Given the description of an element on the screen output the (x, y) to click on. 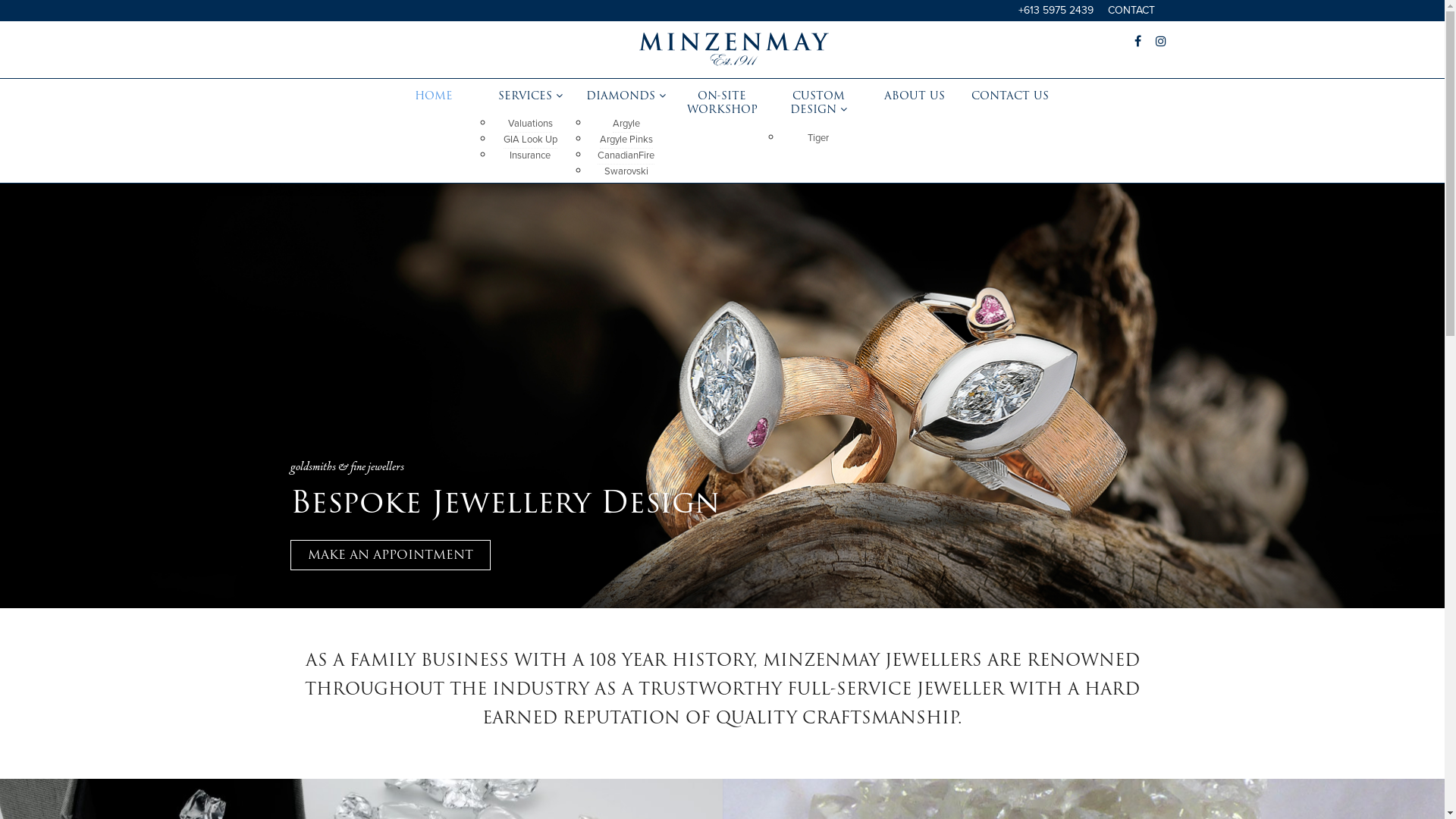
Argyle Pinks Element type: text (625, 139)
CONTACT Element type: text (1130, 9)
ABOUT US Element type: text (914, 95)
Valuations Element type: text (530, 123)
CONTACT US Element type: text (1010, 95)
Argyle Element type: text (626, 123)
MAKE AN APPOINTMENT Element type: text (389, 554)
HOME Element type: text (433, 95)
Tiger Element type: text (817, 137)
image/svg+xml Element type: text (733, 61)
GIA Look Up Element type: text (530, 139)
DIAMONDS Element type: text (625, 95)
+613 5975 2439 Element type: text (1054, 9)
CanadianFire Element type: text (625, 155)
Insurance Element type: text (529, 155)
SERVICES Element type: text (530, 95)
Swarovski Element type: text (626, 171)
ON-SITE WORKSHOP Element type: text (722, 101)
CUSTOM DESIGN Element type: text (818, 101)
